Given the description of an element on the screen output the (x, y) to click on. 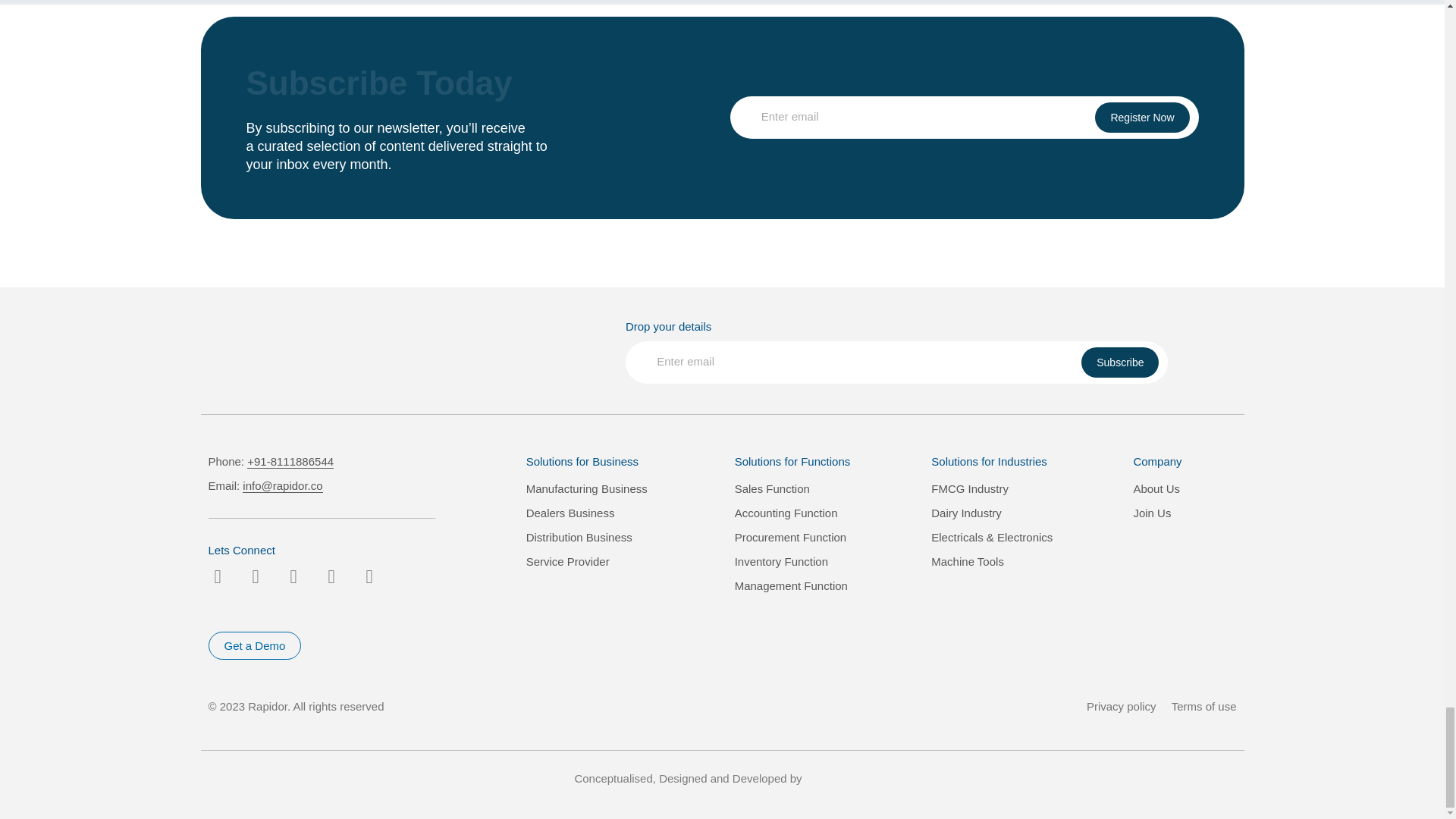
Register Now (1141, 117)
